Given the description of an element on the screen output the (x, y) to click on. 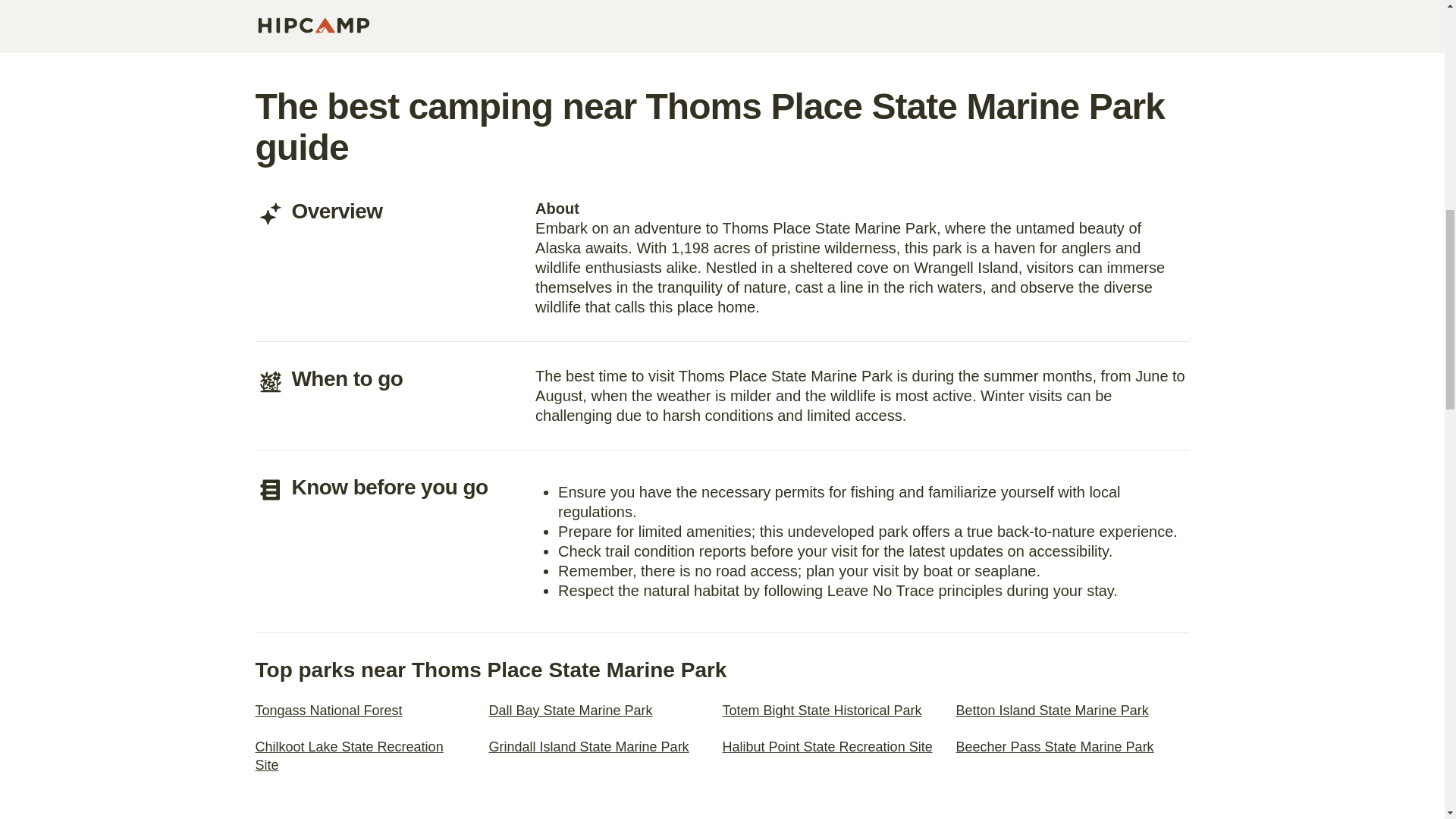
Tent sites (343, 7)
RV sites (532, 7)
Grindall Island State Marine Park (587, 747)
All to yourself (721, 7)
Halibut Point State Recreation Site (826, 747)
Betton Island State Marine Park (1051, 710)
Chilkoot Lake State Recreation Site (348, 756)
Creature comforts (1100, 7)
Totem Bight State Historical Park (821, 710)
Tongass National Forest (327, 710)
Beecher Pass State Marine Park (1054, 747)
Dall Bay State Marine Park (569, 710)
Available this weekend (911, 7)
